Given the description of an element on the screen output the (x, y) to click on. 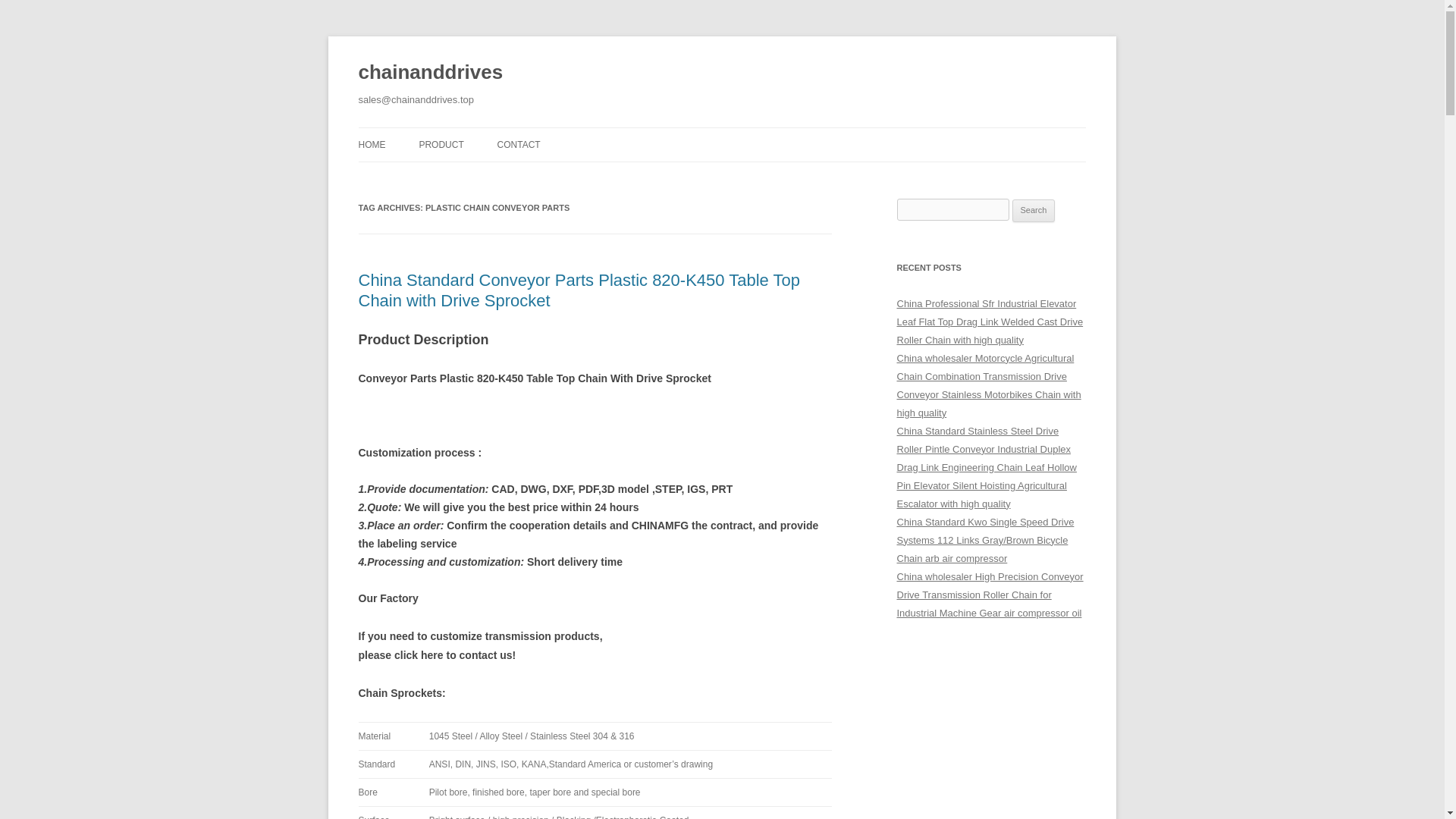
CONTACT (518, 144)
chainanddrives (430, 72)
Search (1033, 210)
chainanddrives (430, 72)
PRODUCT (441, 144)
